Given the description of an element on the screen output the (x, y) to click on. 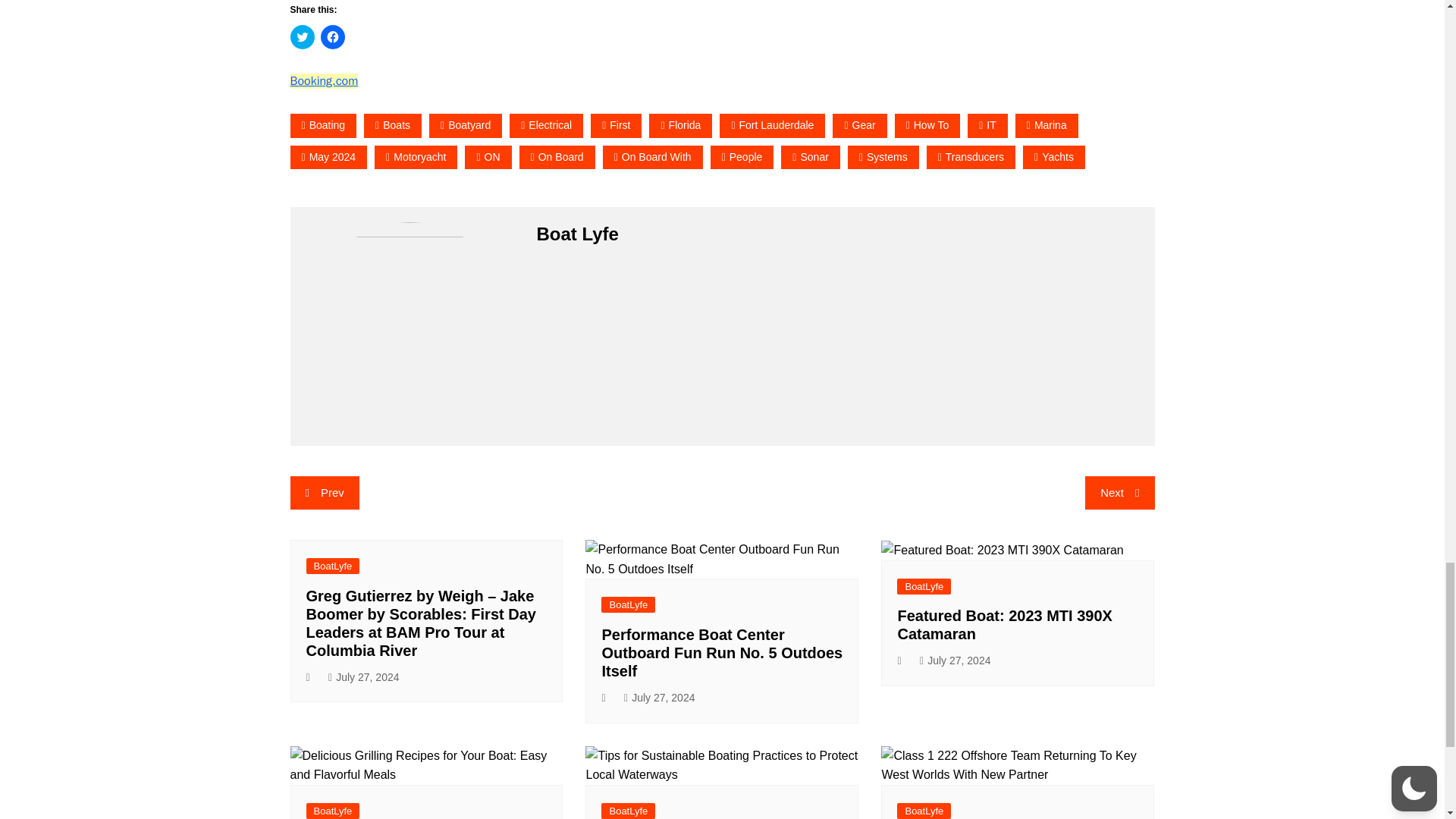
Boating (322, 125)
Boatyard (465, 125)
On Board With (652, 156)
Click to share on Facebook (331, 37)
Fort Lauderdale (772, 125)
Florida (680, 125)
First (616, 125)
Marina (1046, 125)
Click to share on Twitter (301, 37)
Electrical (546, 125)
How To (927, 125)
Gear (859, 125)
IT (987, 125)
Booking.com (323, 80)
ON (487, 156)
